Given the description of an element on the screen output the (x, y) to click on. 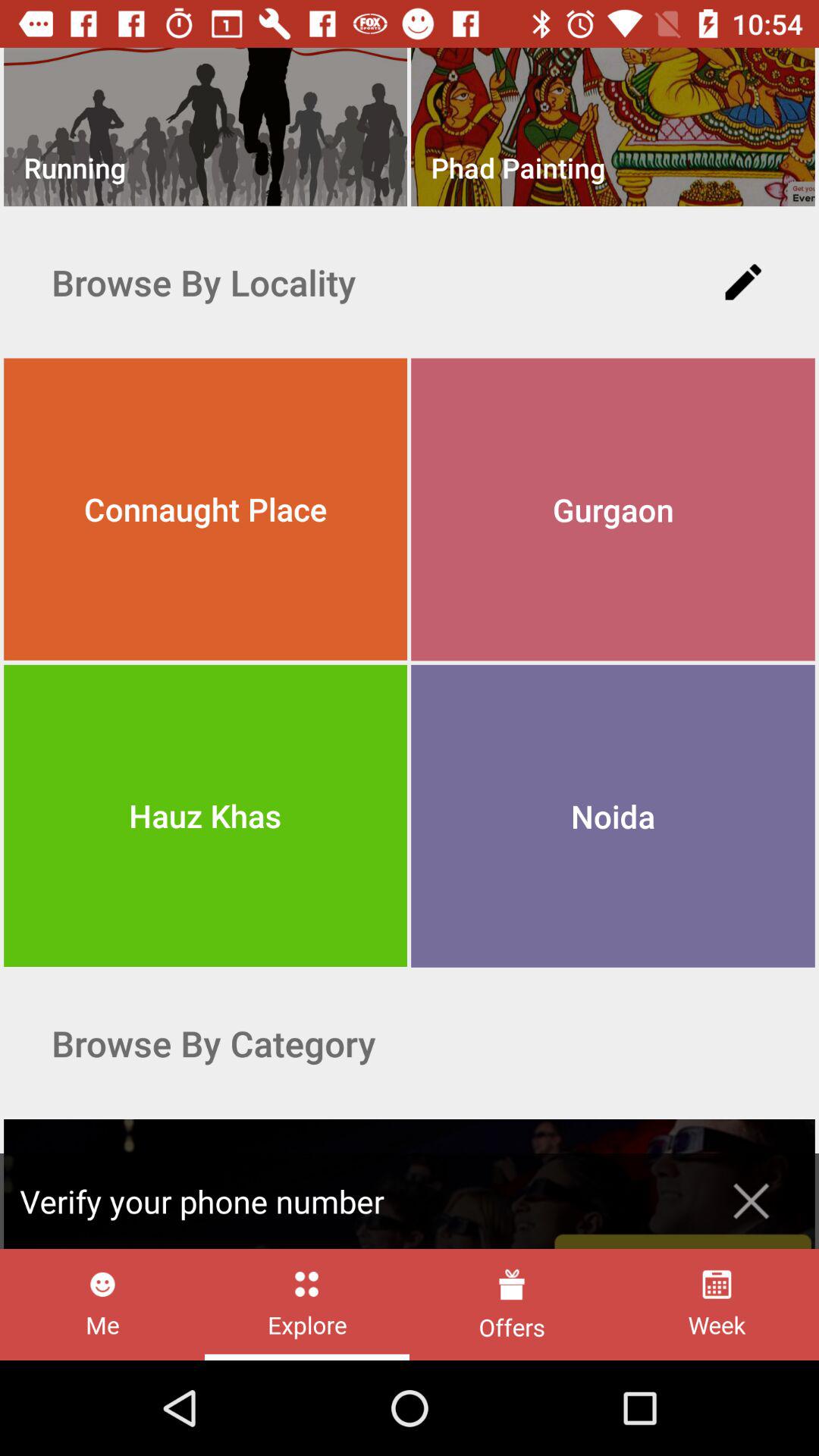
turn on item to the left of week icon (511, 1304)
